Given the description of an element on the screen output the (x, y) to click on. 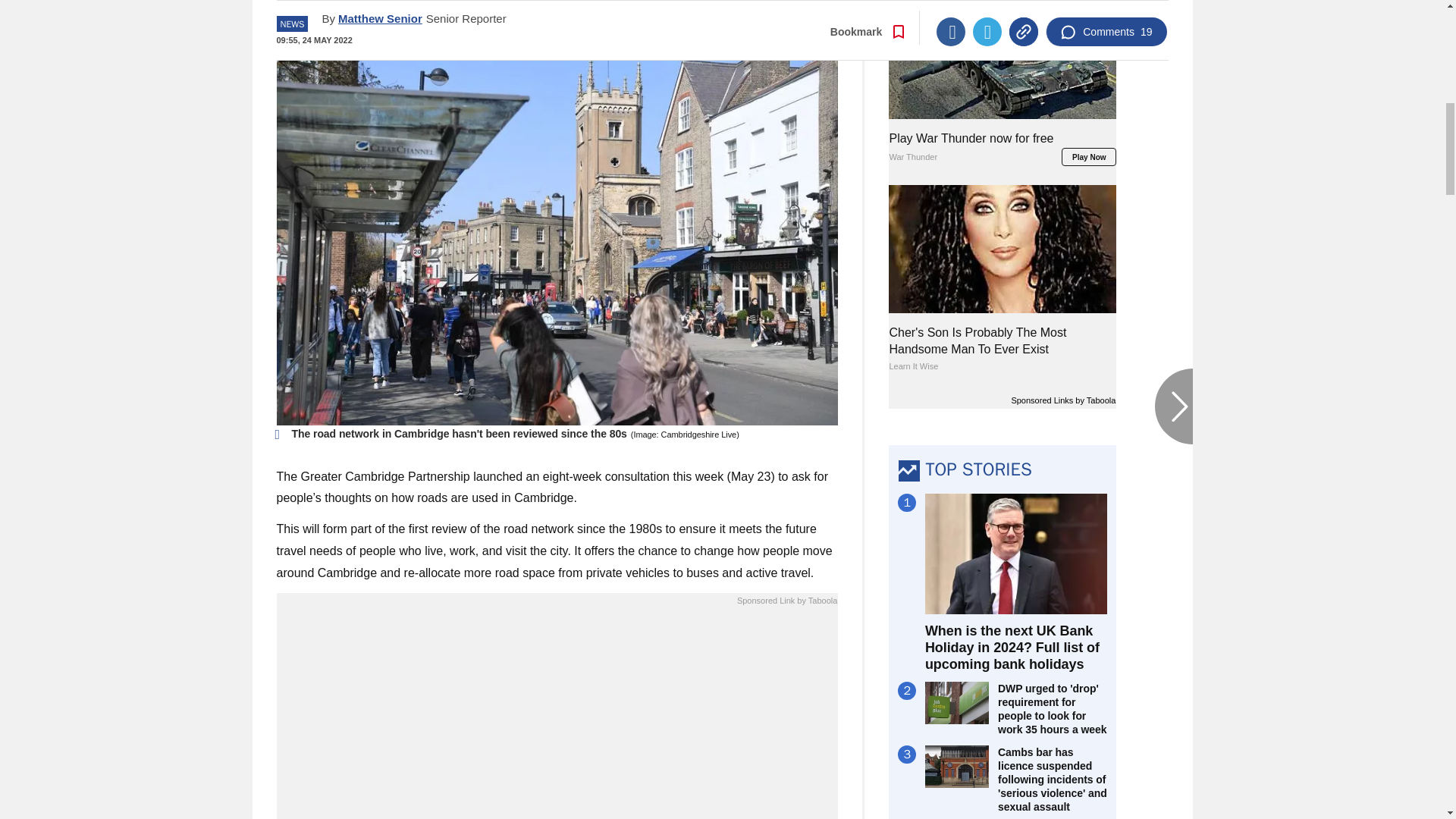
Go (730, 17)
